Given the description of an element on the screen output the (x, y) to click on. 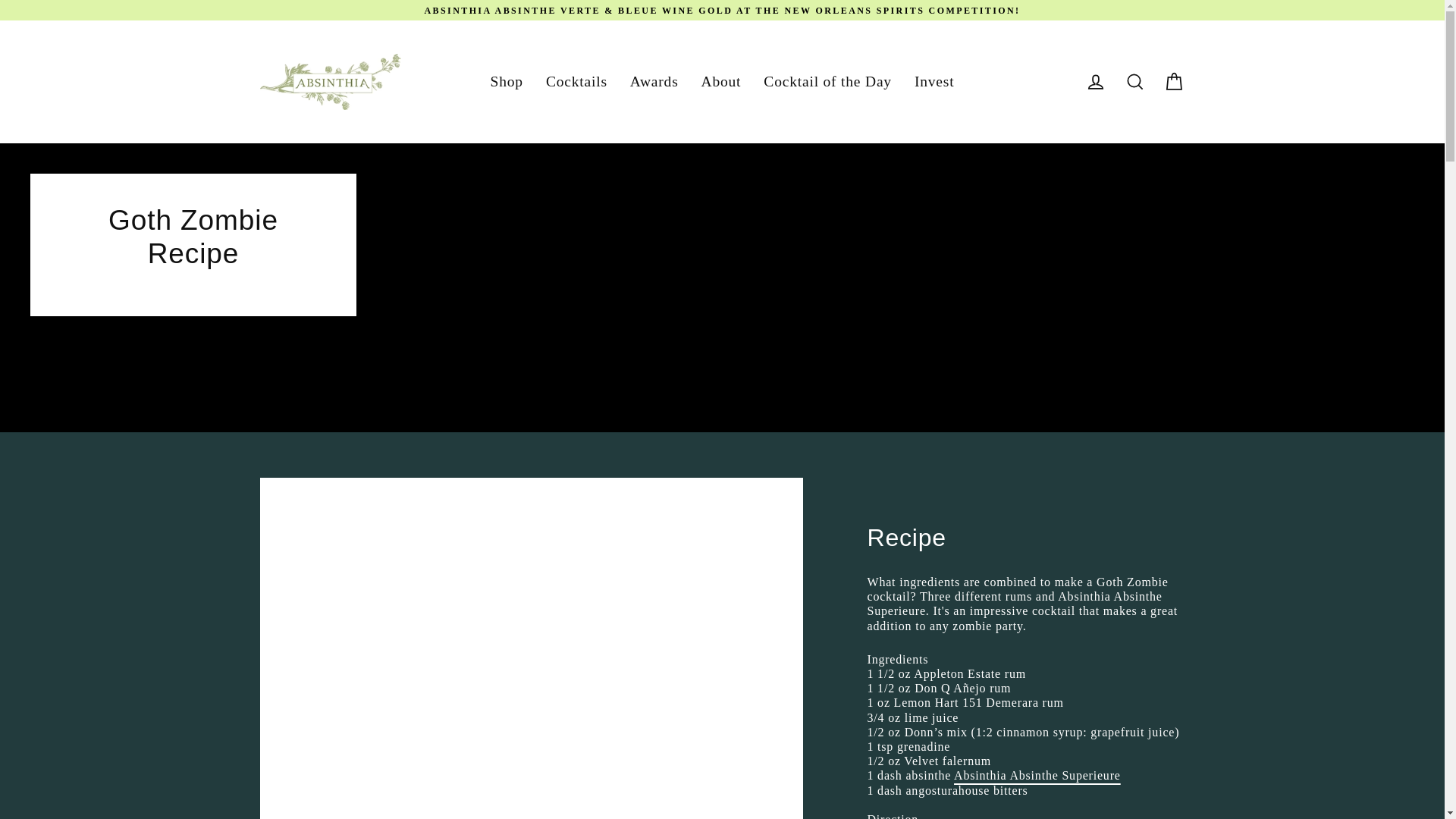
Cocktails (576, 81)
About (721, 81)
Shop (506, 81)
Awards (654, 81)
